Given the description of an element on the screen output the (x, y) to click on. 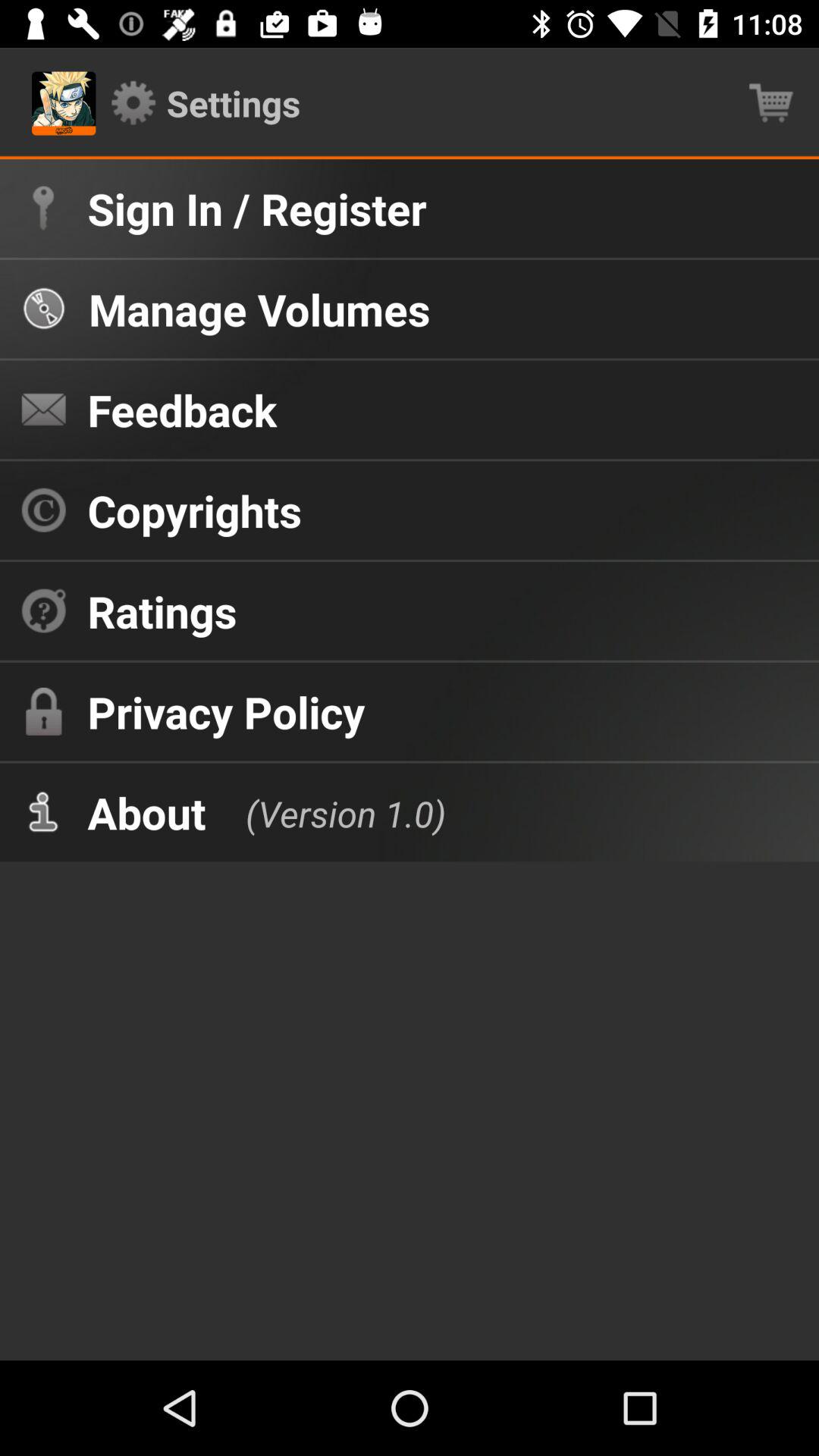
jump until the about (146, 812)
